Given the description of an element on the screen output the (x, y) to click on. 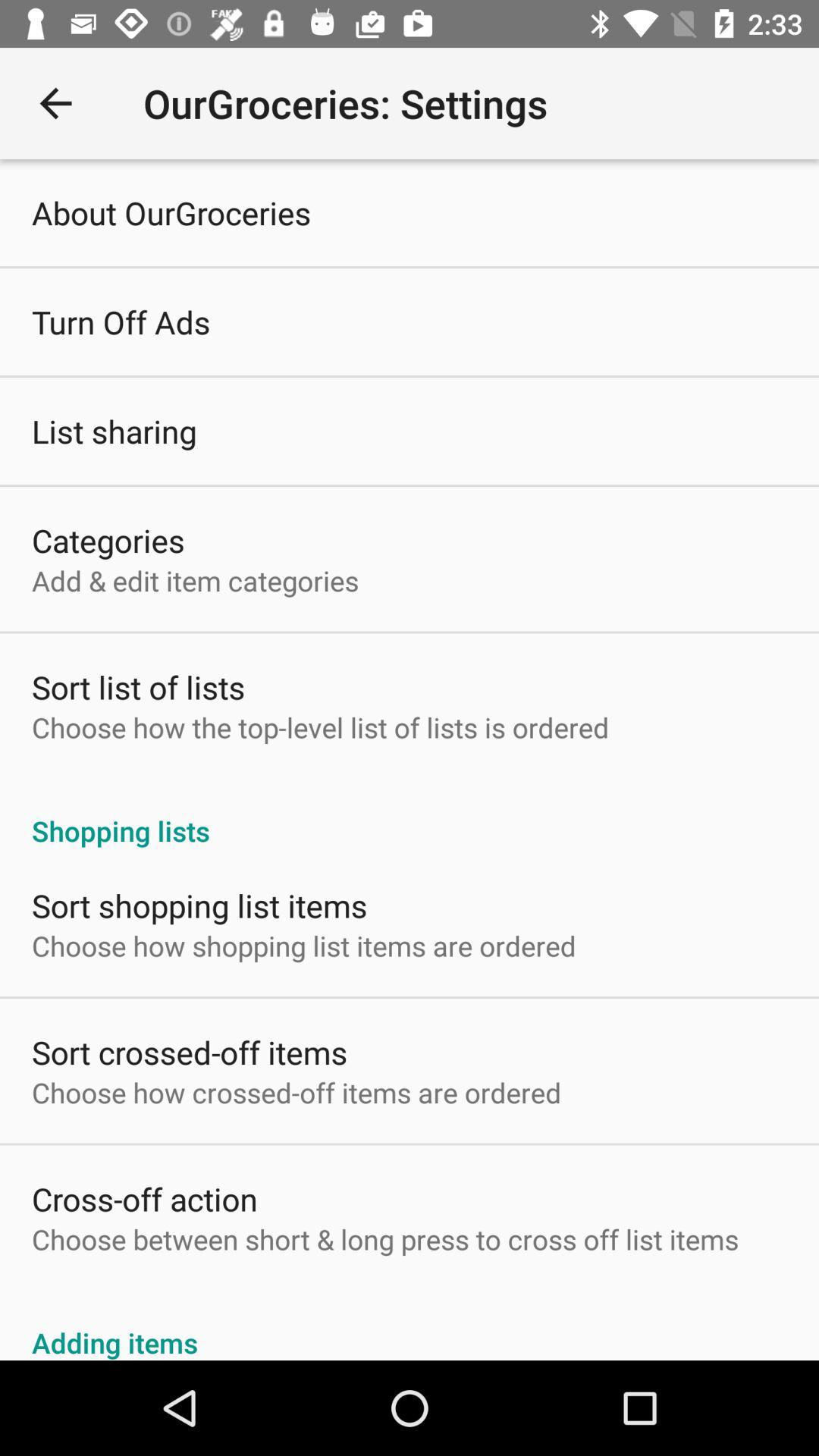
turn off the item above sort list of item (194, 580)
